Given the description of an element on the screen output the (x, y) to click on. 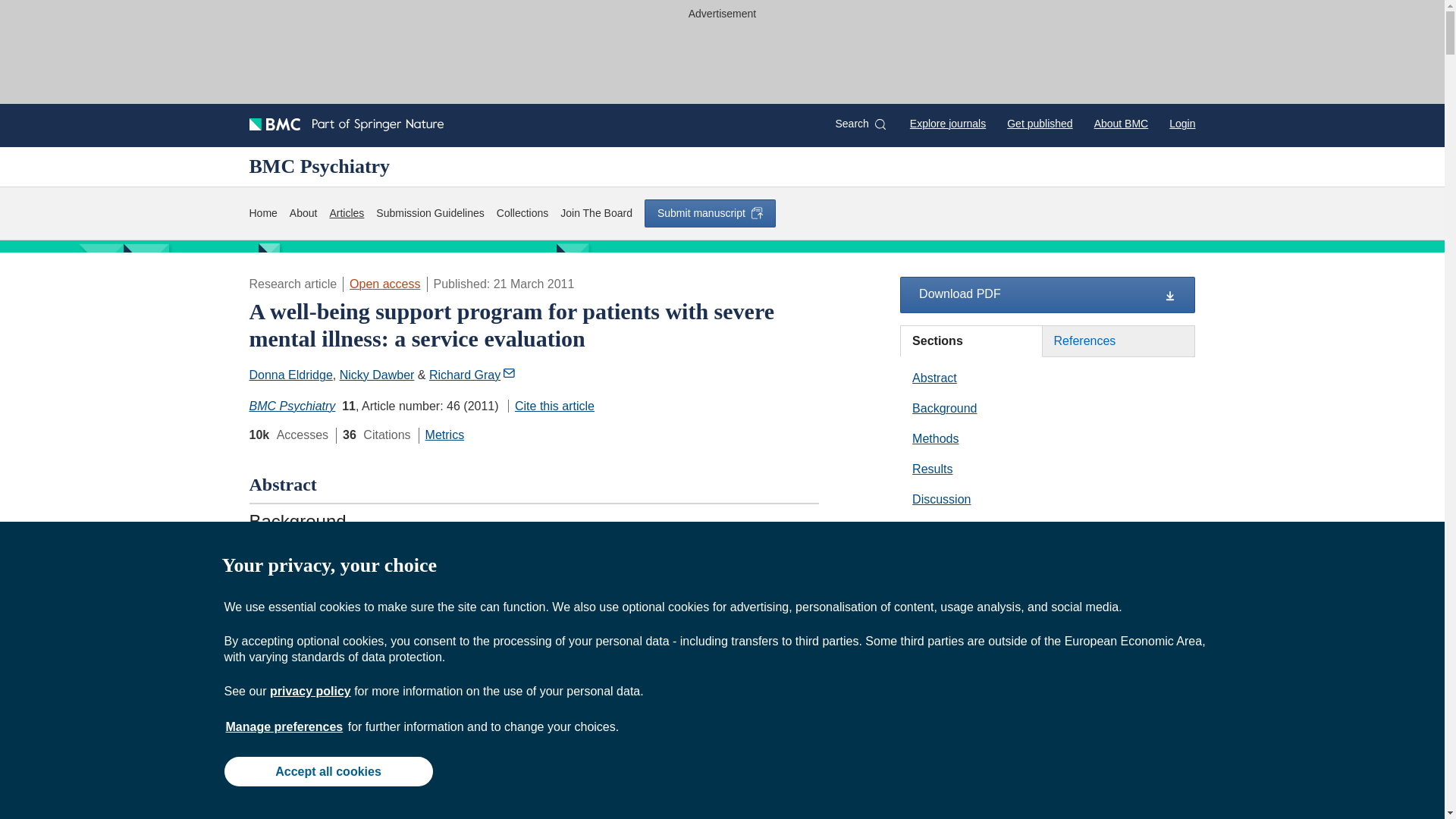
3rd party ad content (721, 59)
Submission Guidelines (429, 212)
About (303, 212)
Donna Eldridge (289, 374)
Metrics (444, 434)
Login (1182, 123)
Manage preferences (284, 726)
Join The Board (595, 212)
Accept all cookies (328, 771)
BMC Psychiatry (291, 405)
